Given the description of an element on the screen output the (x, y) to click on. 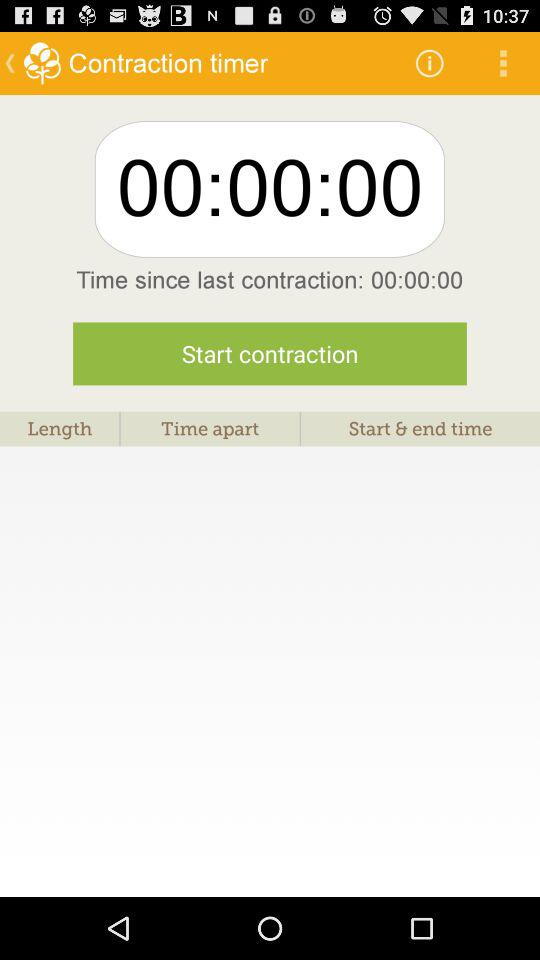
open the icon above 00:00:00 icon (429, 62)
